Given the description of an element on the screen output the (x, y) to click on. 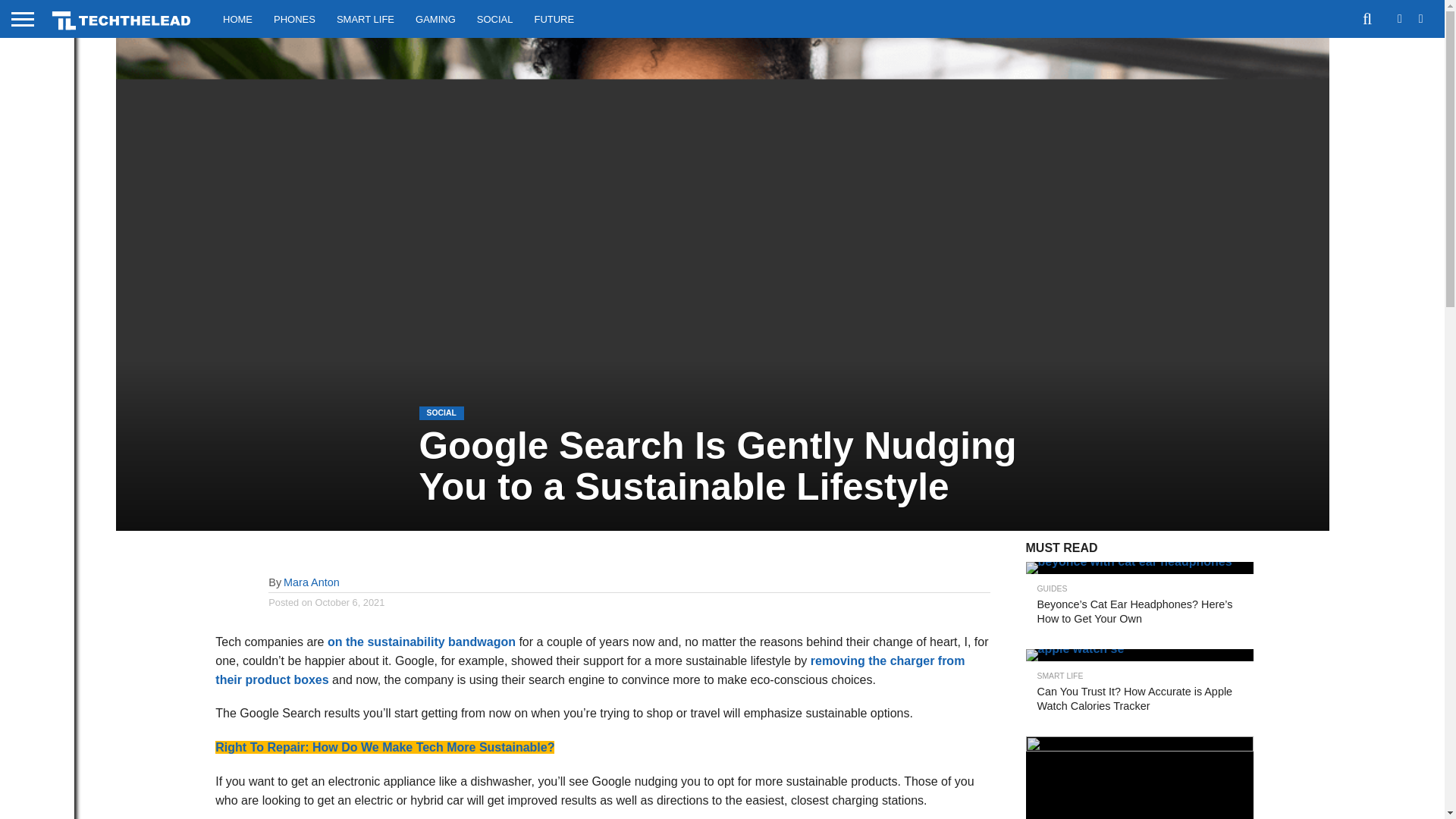
GAMING (434, 18)
Posts by Mara Anton (311, 582)
FUTURE (553, 18)
SMART LIFE (365, 18)
PHONES (294, 18)
SOCIAL (494, 18)
HOME (237, 18)
